Given the description of an element on the screen output the (x, y) to click on. 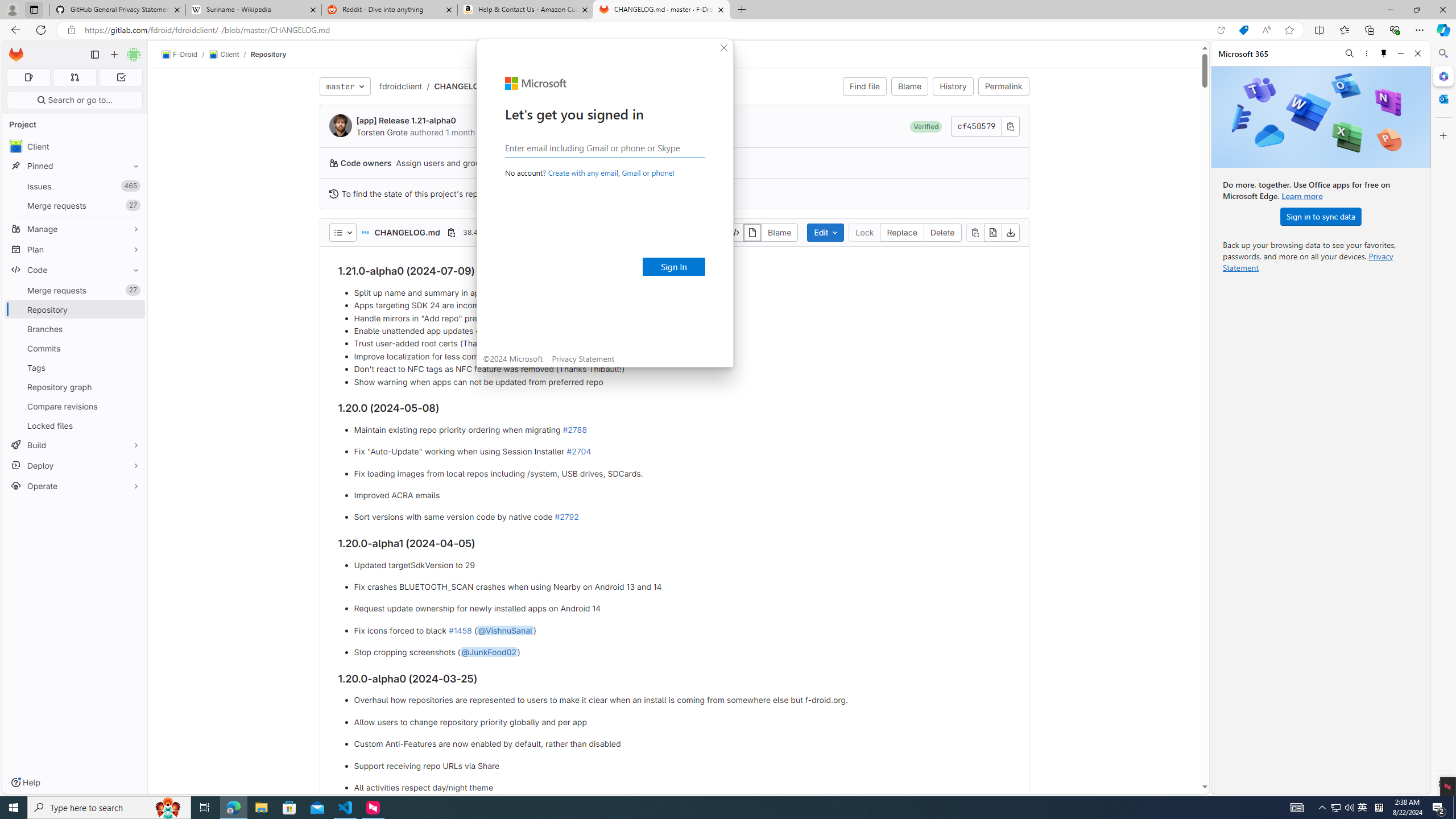
Updated targetSdkVersion to 29 (681, 564)
Manage (1362, 807)
Verified (74, 228)
Blame (926, 126)
avatar (909, 85)
Copy commit SHA (15, 146)
Refresh (1010, 126)
Unpin Issues (40, 29)
Assigned issues 0 (132, 186)
Microsoft Store (28, 76)
Fix icons forced to black #1458 (@VishnuSanal) (289, 807)
Settings (681, 630)
Side bar (1442, 783)
